Given the description of an element on the screen output the (x, y) to click on. 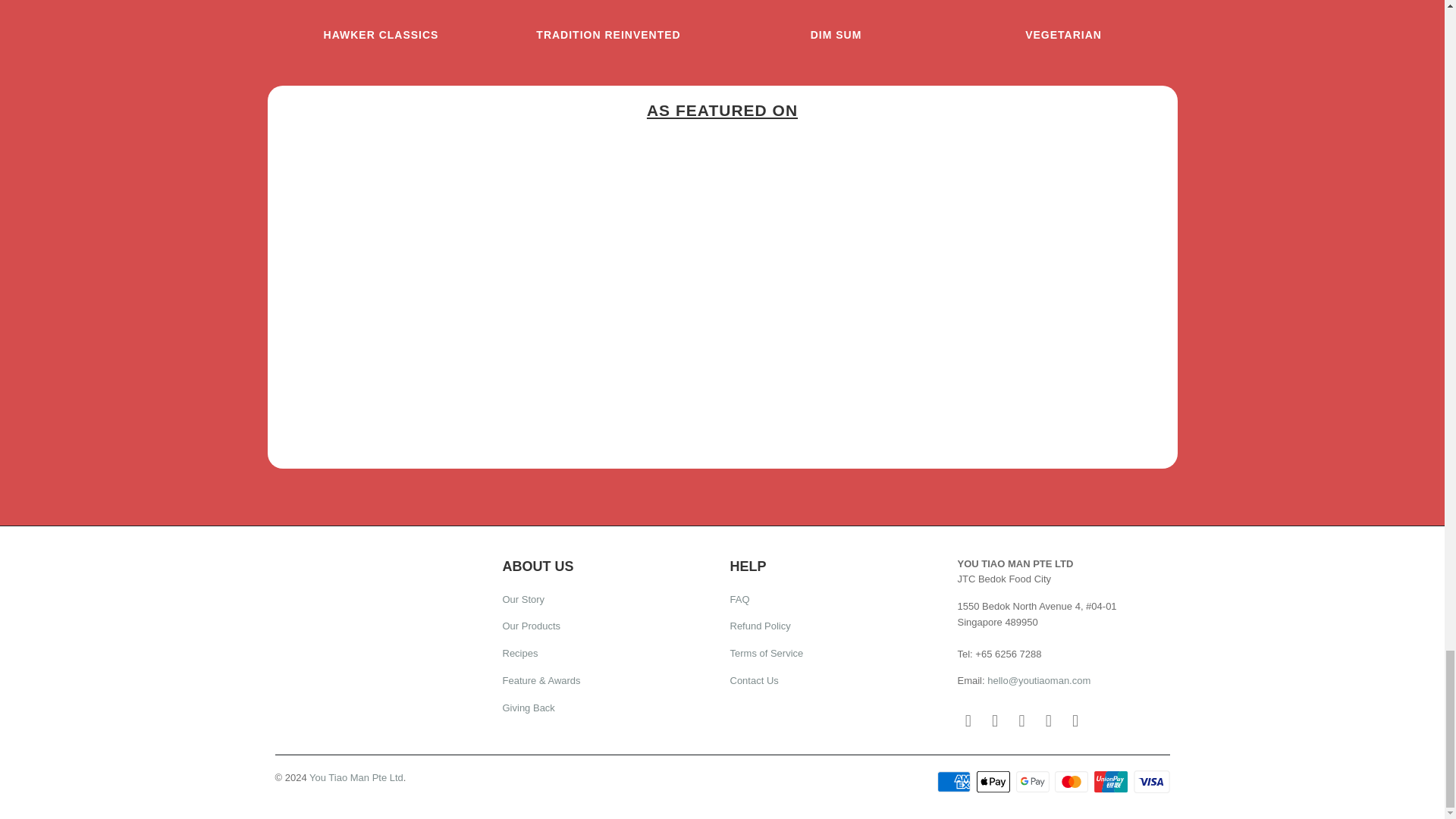
Apple Pay (994, 781)
American Express (955, 781)
You Tiao Man Pte Ltd on LinkedIn (1047, 720)
You Tiao Man Pte Ltd on Facebook (967, 720)
You Tiao Man Pte Ltd on YouTube (1021, 720)
Visa (1150, 781)
Google Pay (1034, 781)
Mastercard (1072, 781)
Email You Tiao Man Pte Ltd (1075, 720)
You Tiao Man Pte Ltd on Instagram (995, 720)
Union Pay (1112, 781)
